Given the description of an element on the screen output the (x, y) to click on. 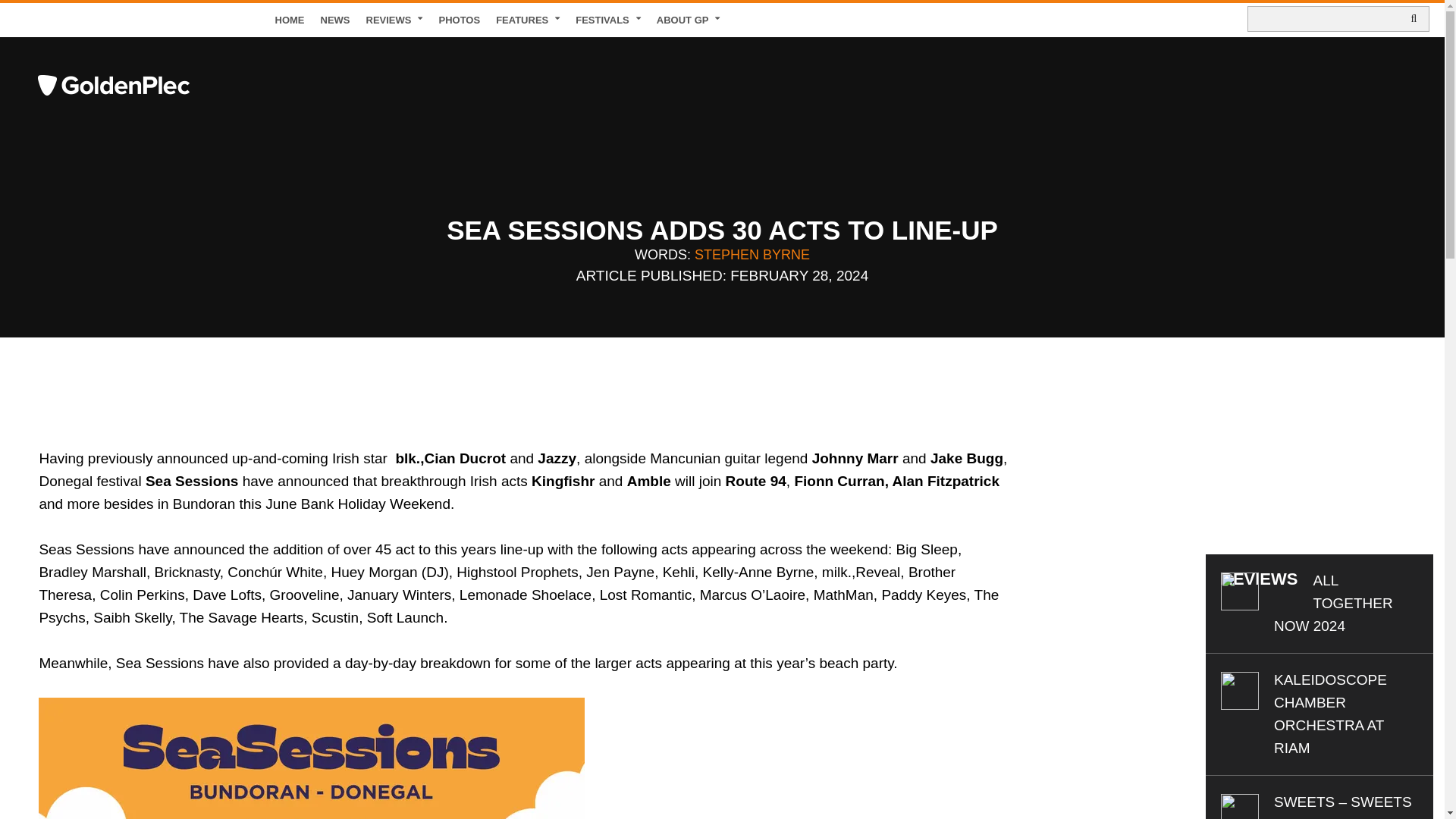
PHOTOS (458, 19)
HOME (289, 19)
REVIEWS (394, 19)
FEATURES (527, 19)
FESTIVALS (608, 19)
ABOUT GP (689, 19)
NEWS (335, 19)
